Given the description of an element on the screen output the (x, y) to click on. 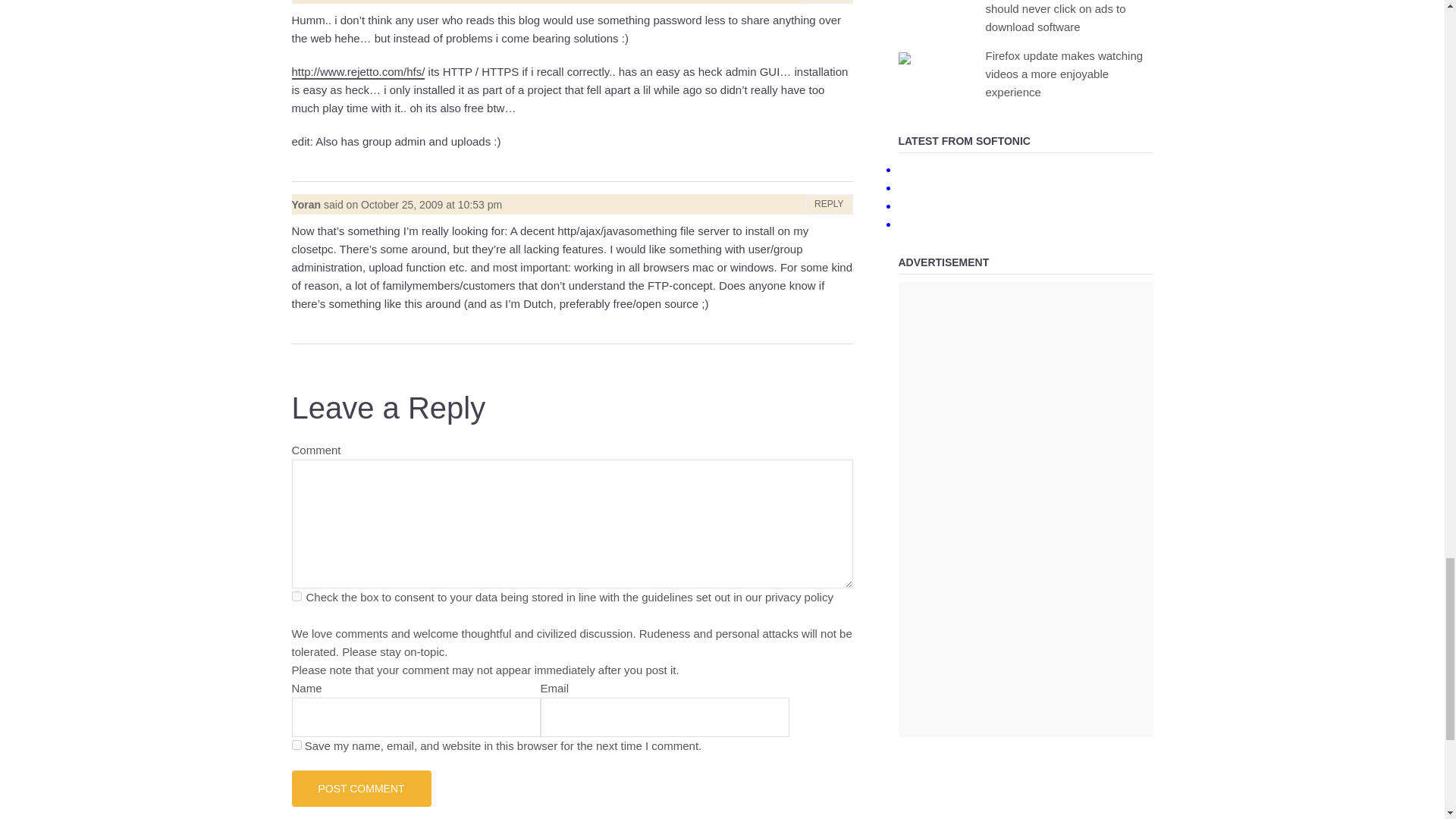
Post Comment (360, 788)
privacy-key (296, 596)
yes (296, 745)
